Given the description of an element on the screen output the (x, y) to click on. 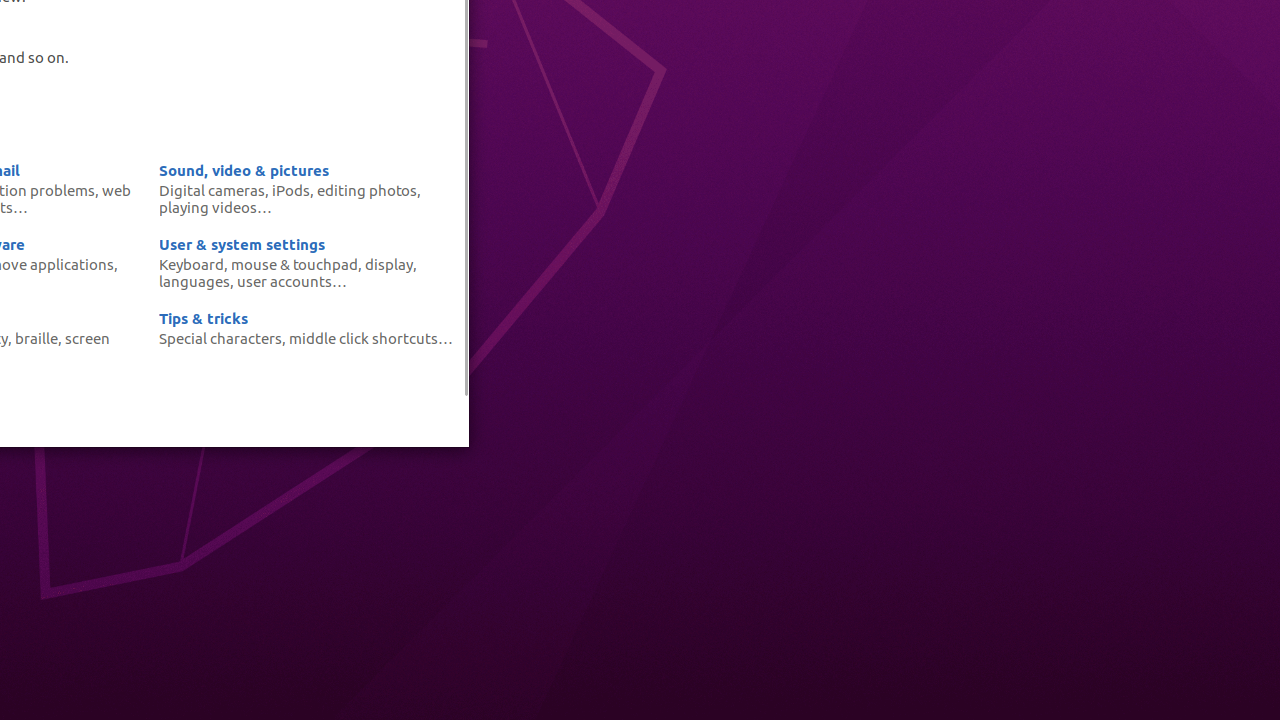
Tips & tricks Element type: link (203, 318)
editing photos Element type: link (367, 190)
mouse & touchpad Element type: link (294, 264)
User & system settings Element type: link (242, 243)
playing videos Element type: link (208, 207)
